Given the description of an element on the screen output the (x, y) to click on. 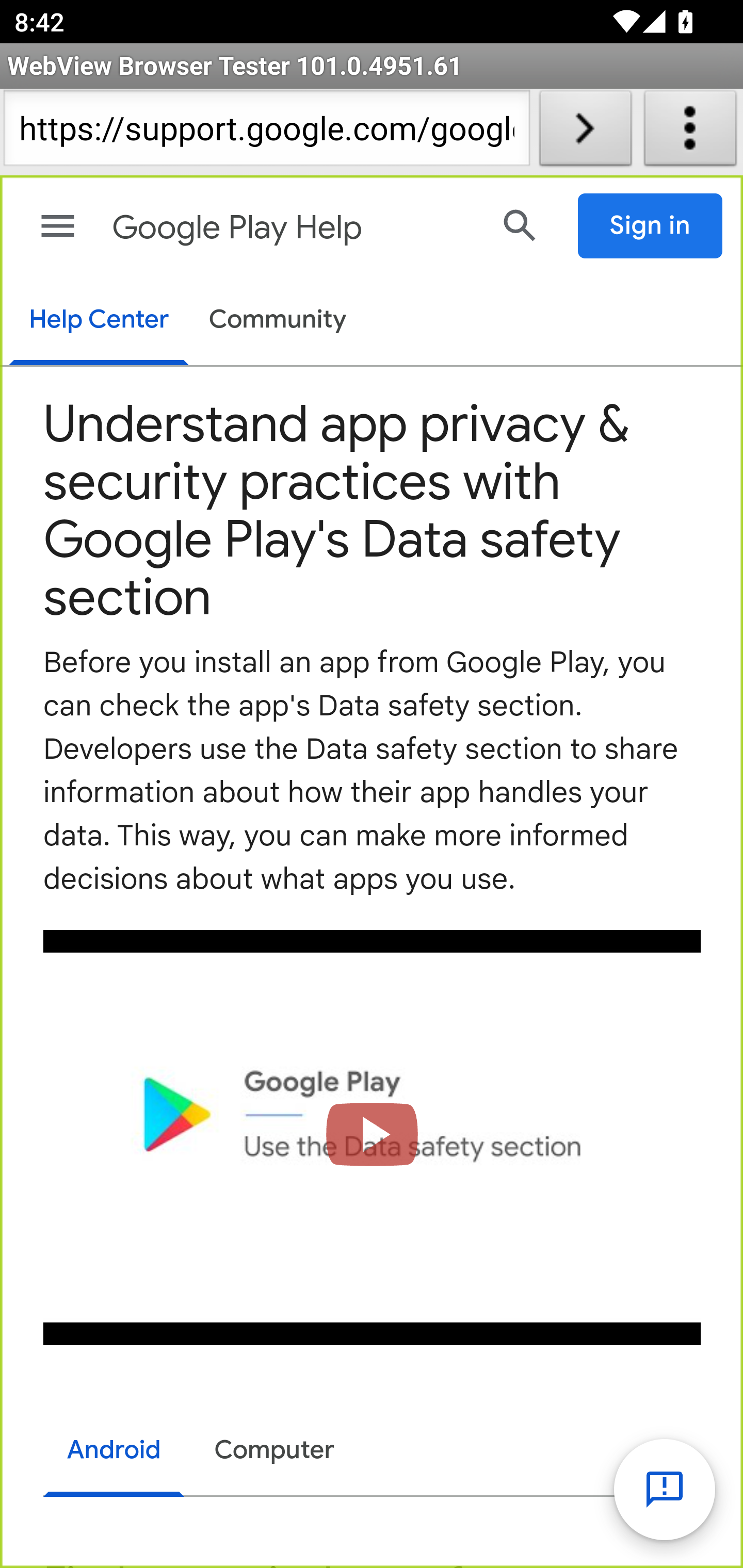
Load URL (585, 132)
About WebView (690, 132)
Main menu (58, 226)
Google Play Help (292, 227)
Search Help Center (519, 225)
Sign in (650, 226)
Help Center (98, 320)
Community (277, 320)
Load video (372, 1137)
Load video (372, 1137)
Android (114, 1452)
Computer (273, 1450)
